Given the description of an element on the screen output the (x, y) to click on. 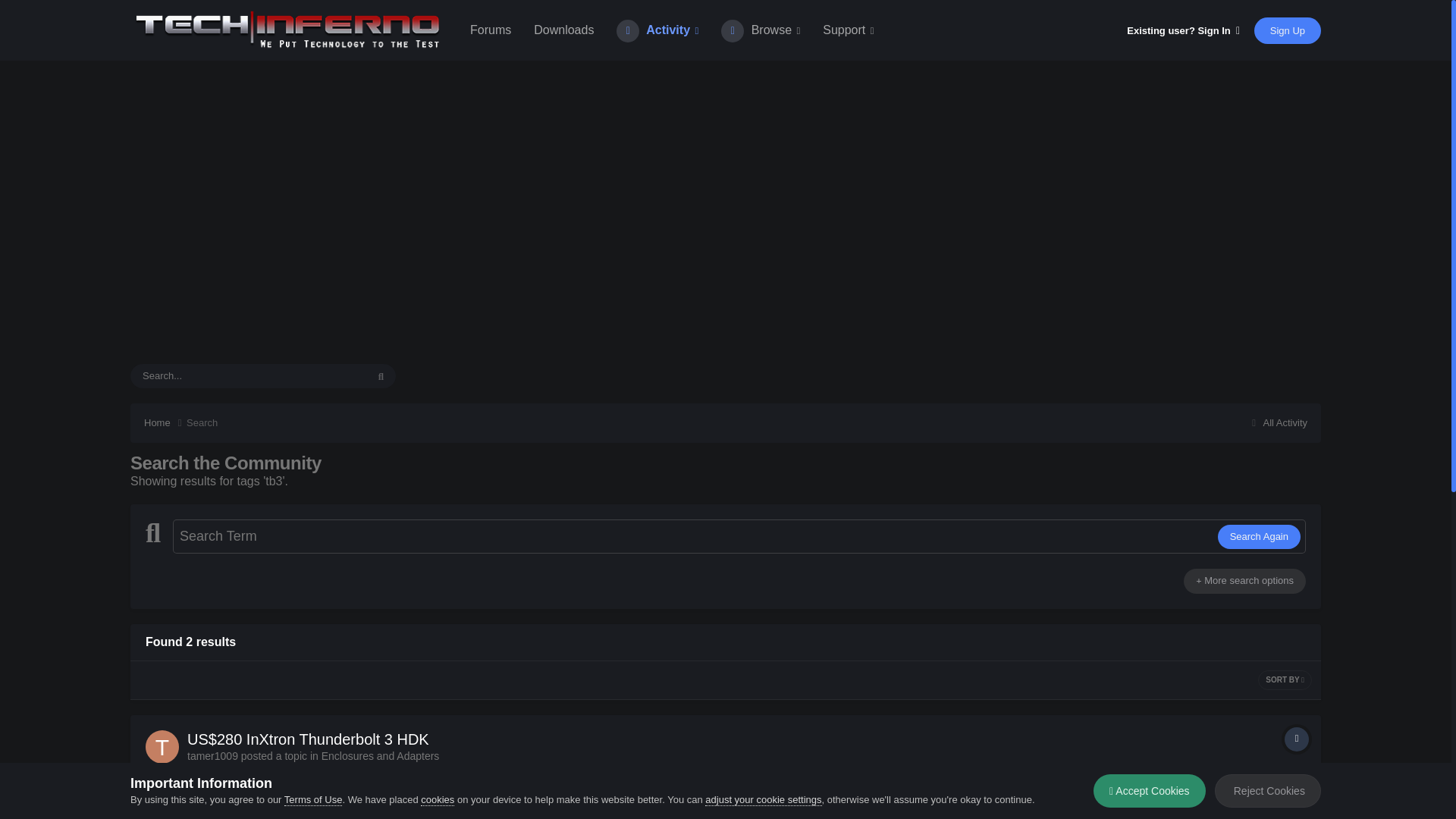
Downloads (563, 30)
Home (165, 422)
Search Again (1258, 536)
Forums (490, 30)
Sign Up (1286, 29)
Search (201, 422)
Go to tamer1009's profile (162, 746)
Topic (1296, 739)
Find other content tagged with 'tb3' (418, 810)
Activity (657, 30)
More search options (1244, 580)
Go to tamer1009's profile (212, 756)
Existing user? Sign In   (1183, 30)
Browse (760, 30)
Find other content tagged with 'thunderbolt' (368, 810)
